Given the description of an element on the screen output the (x, y) to click on. 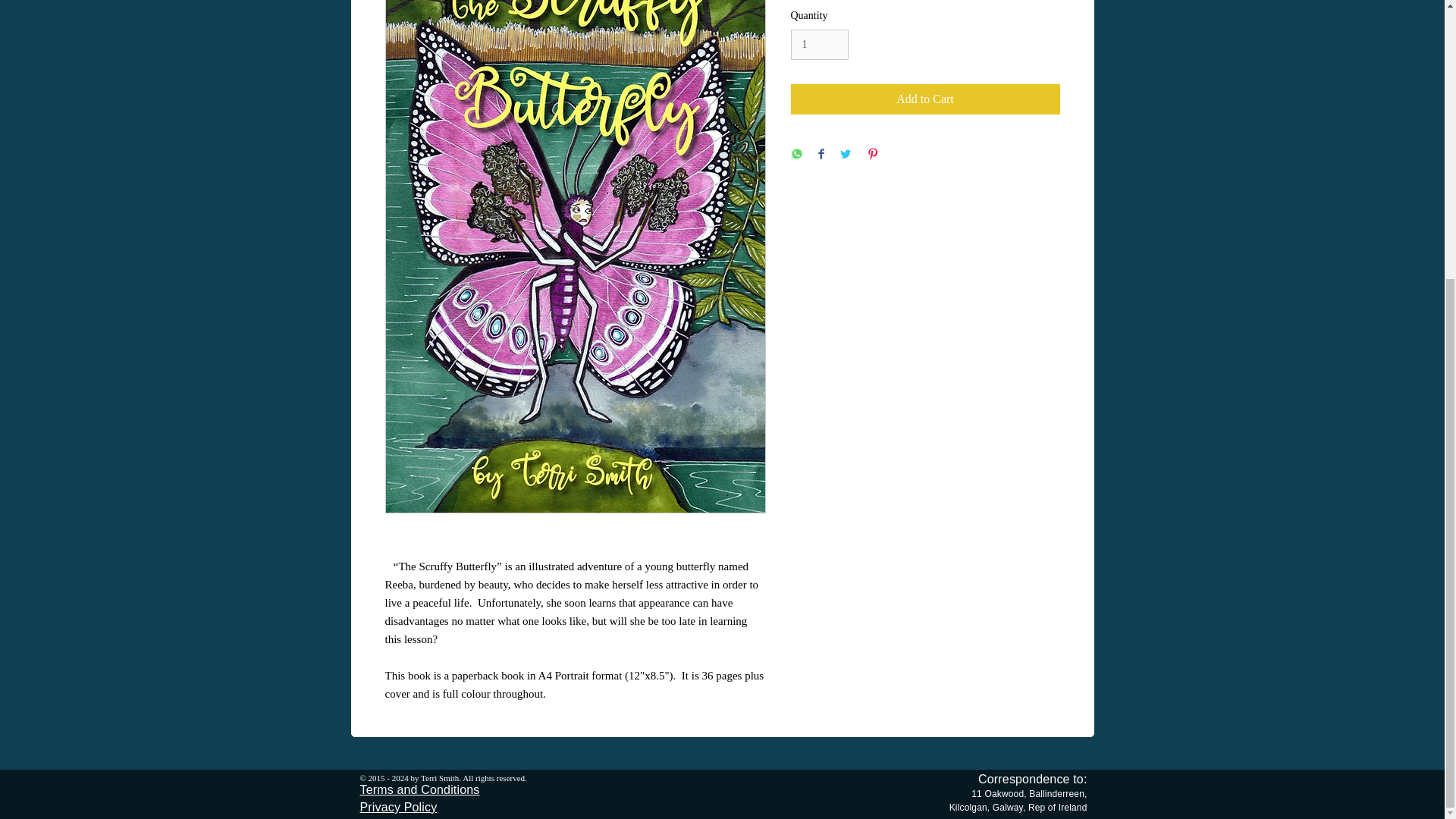
Add to Cart (924, 99)
Privacy Policy (397, 807)
Terms and Conditions (419, 789)
1 (818, 44)
